Given the description of an element on the screen output the (x, y) to click on. 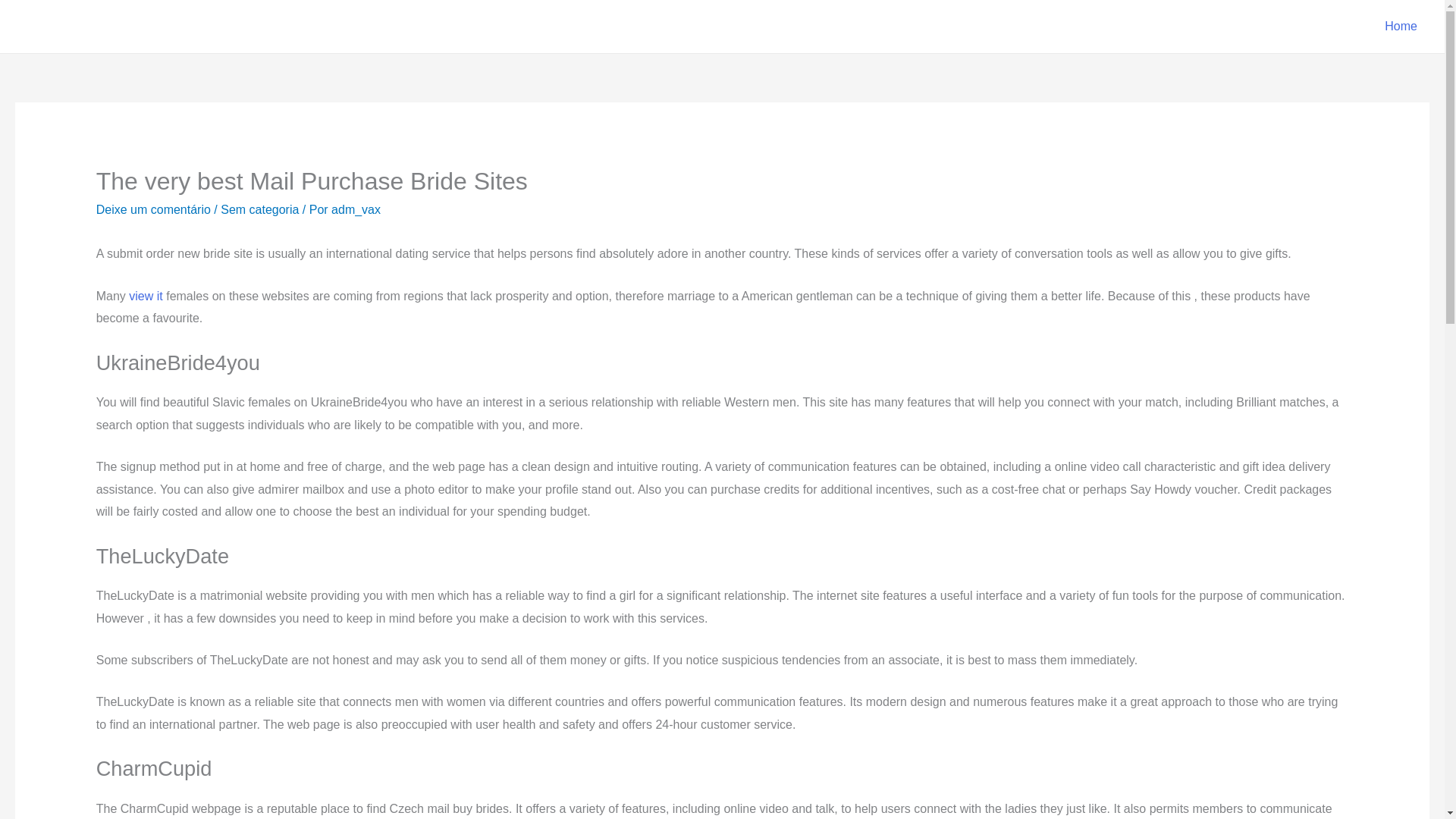
view it (145, 295)
Home (1401, 26)
Sem categoria (259, 209)
